Given the description of an element on the screen output the (x, y) to click on. 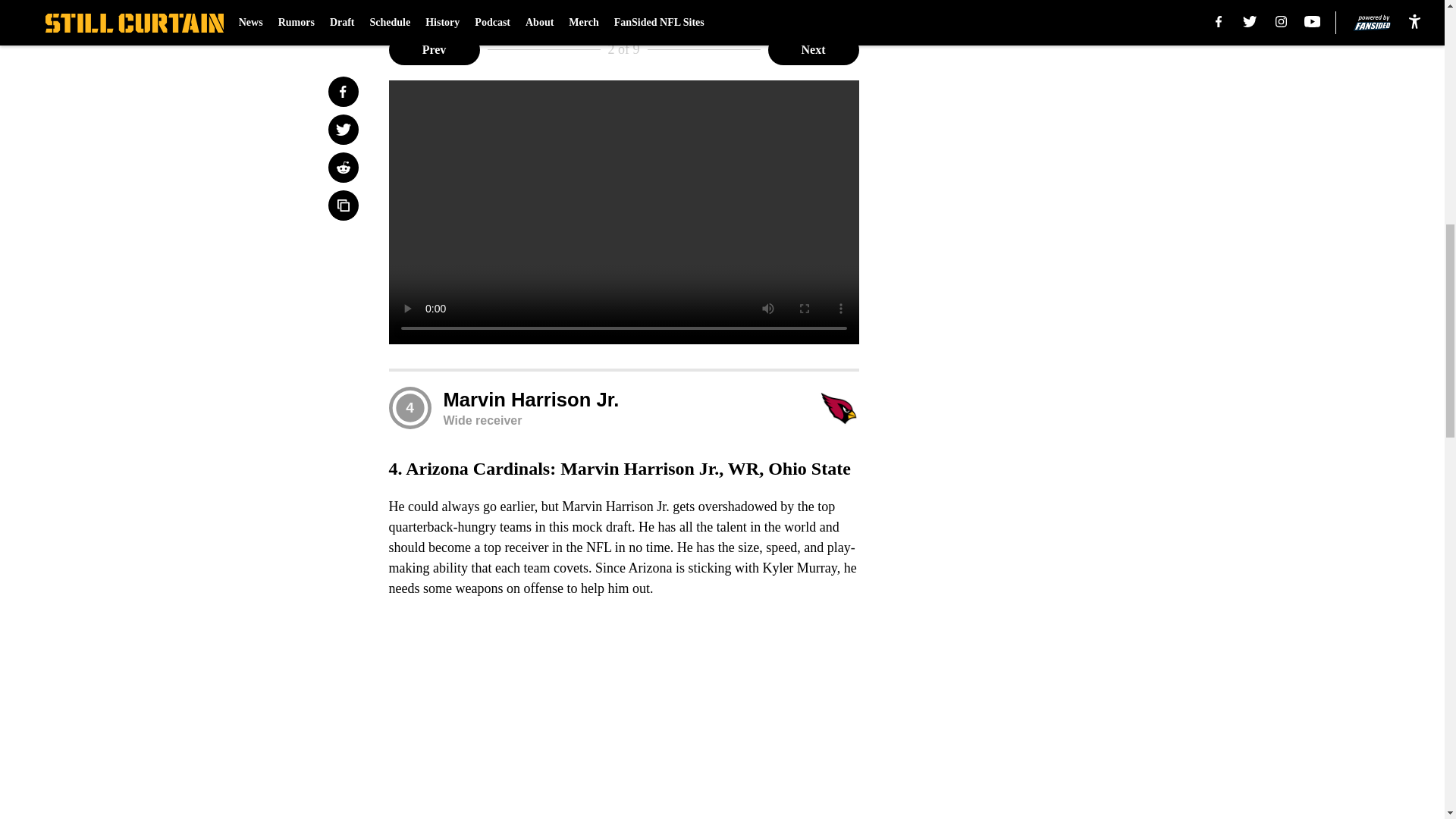
3rd party ad content (1047, 349)
3rd party ad content (1047, 129)
Prev (433, 50)
Next (813, 50)
